Given the description of an element on the screen output the (x, y) to click on. 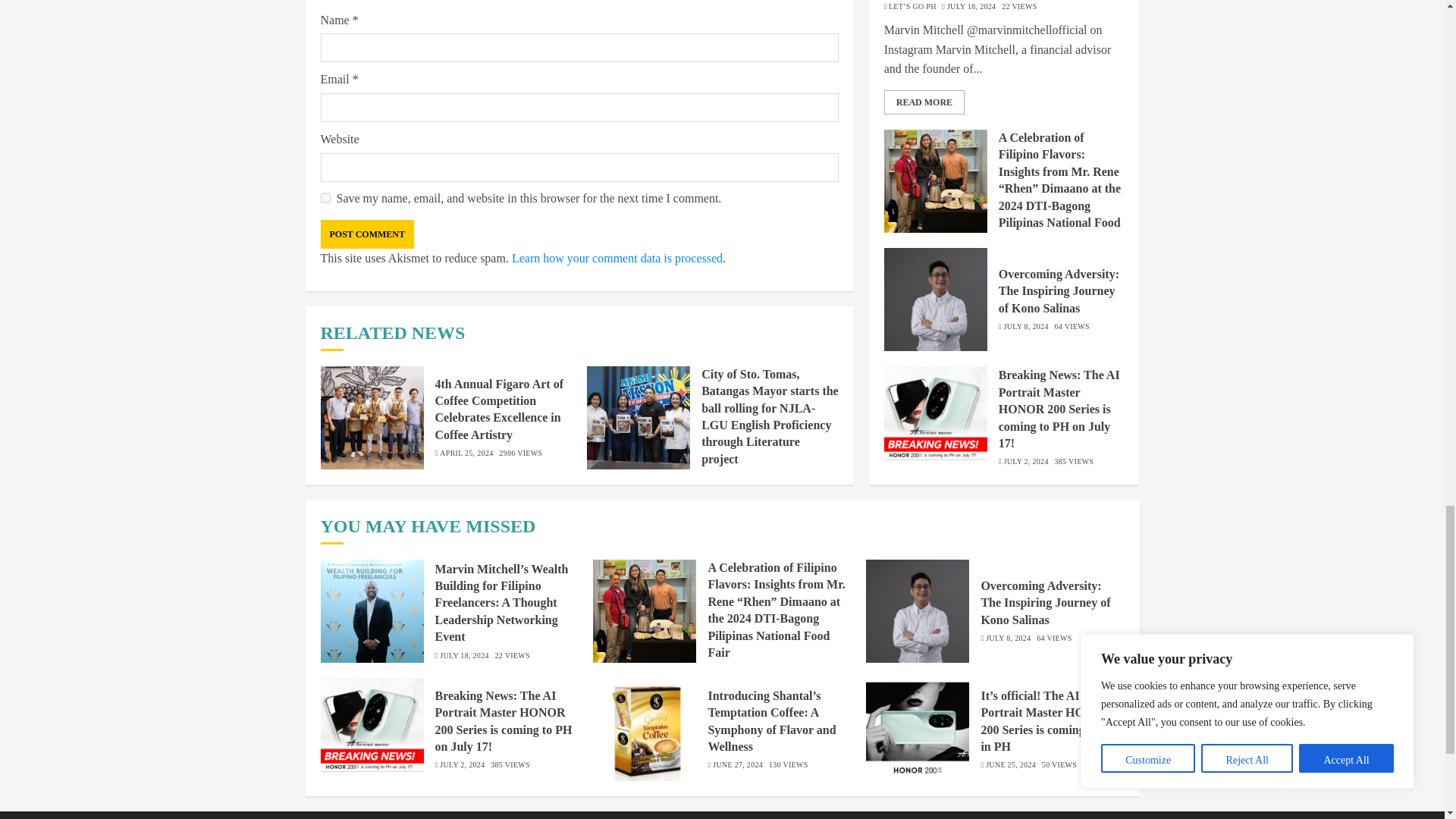
yes (325, 198)
Post Comment (366, 234)
